Given the description of an element on the screen output the (x, y) to click on. 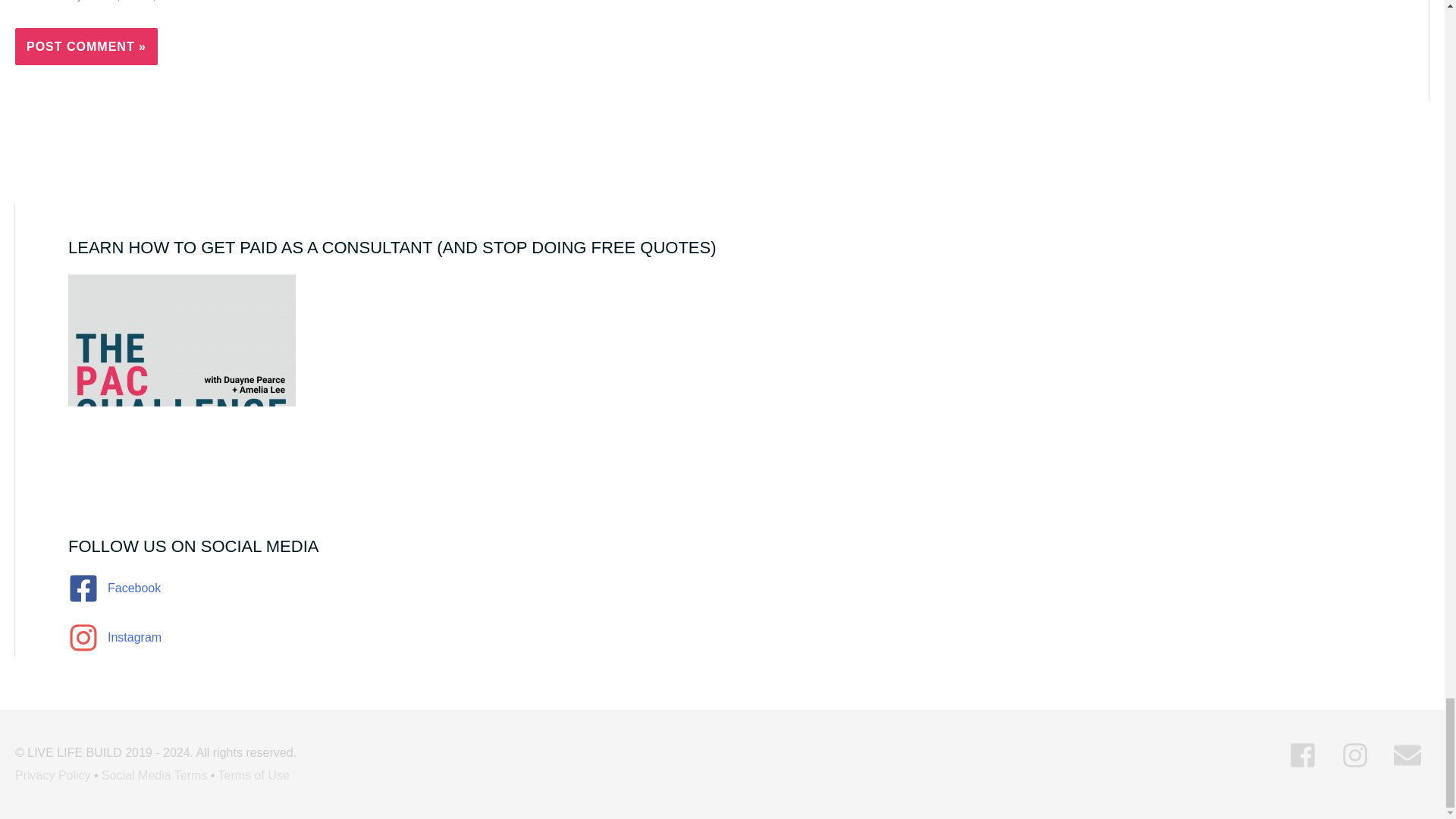
privacy policy (52, 775)
Instagram (721, 637)
Facebook (721, 596)
Social Media Terms (153, 775)
Privacy Policy (52, 775)
social media terms (153, 775)
terms of use (253, 775)
